Given the description of an element on the screen output the (x, y) to click on. 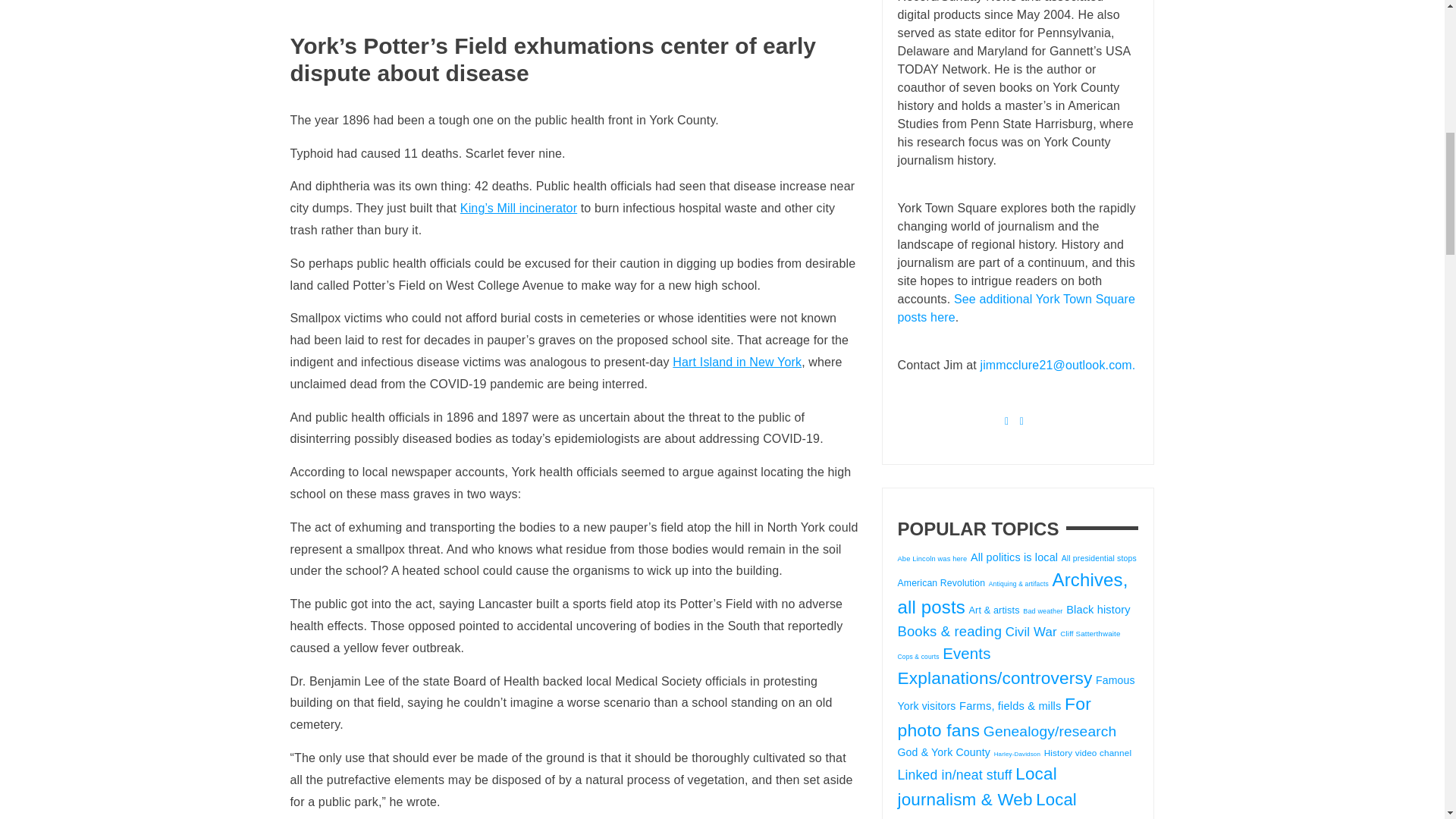
Hart Island in New York (737, 361)
